Given the description of an element on the screen output the (x, y) to click on. 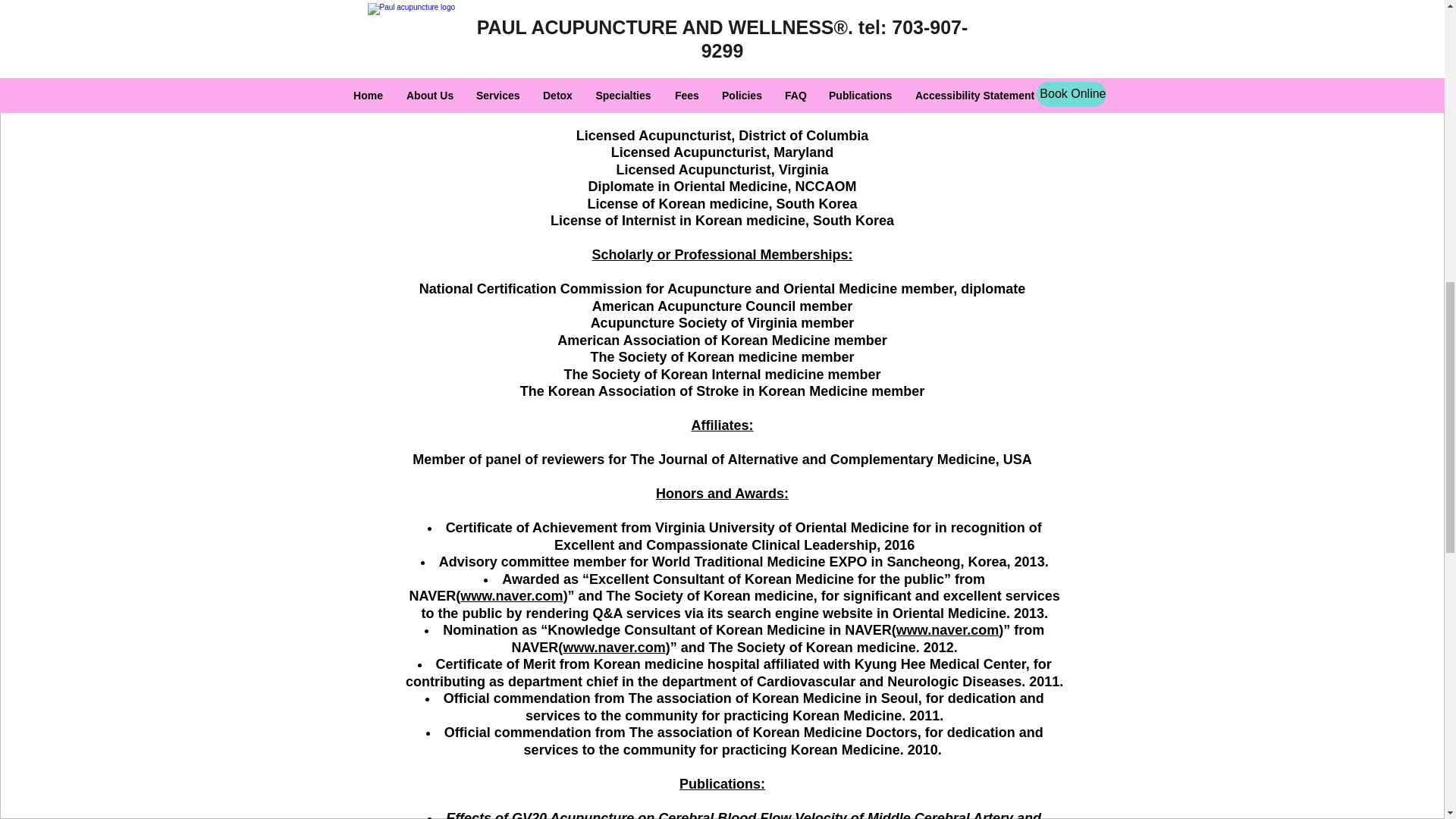
www.naver.com (511, 595)
www.naver.com (613, 647)
www.naver.com (947, 630)
